Given the description of an element on the screen output the (x, y) to click on. 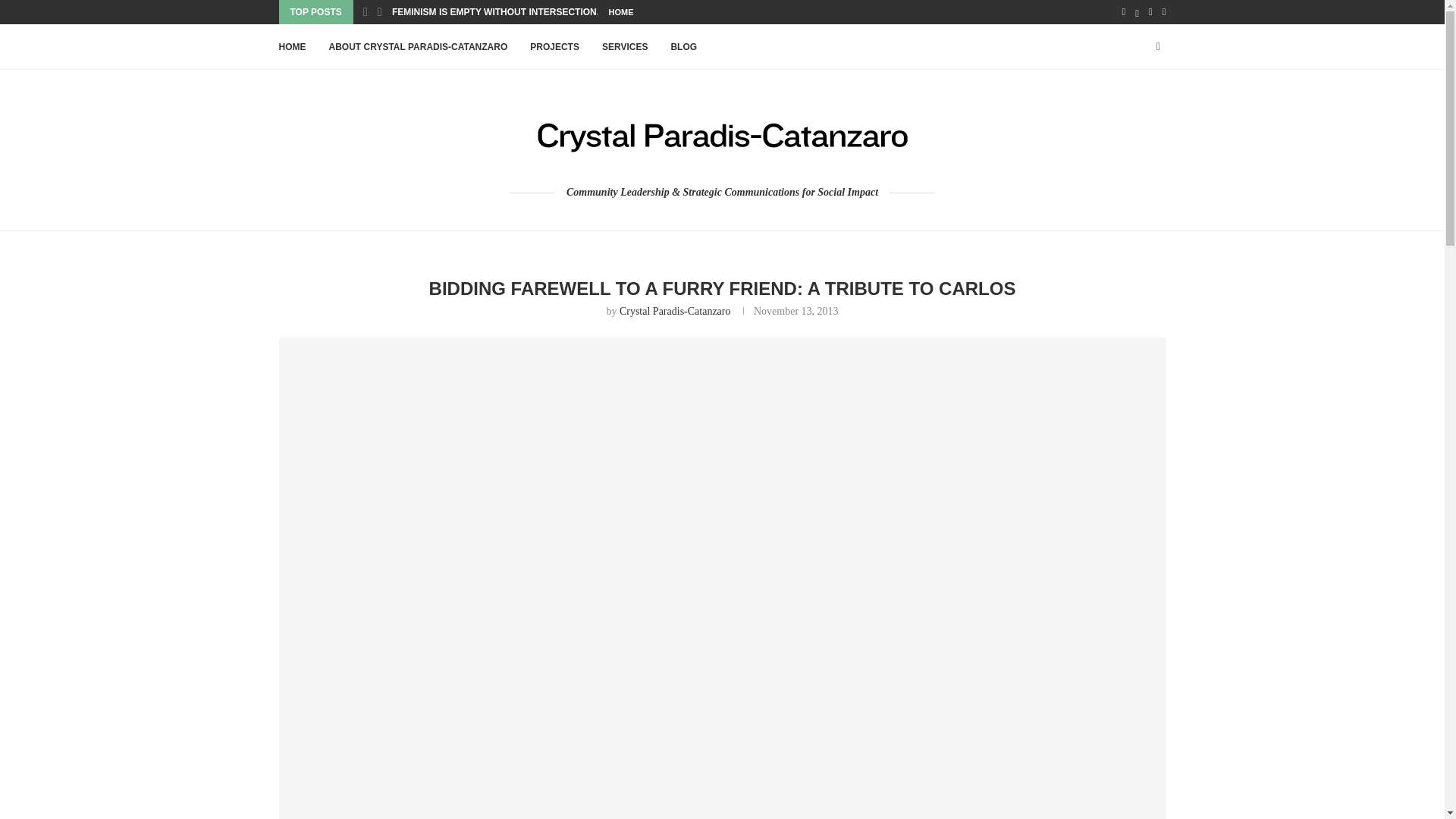
Crystal Paradis-Catanzaro (675, 310)
ABOUT CRYSTAL PARADIS-CATANZARO (418, 46)
PROJECTS (554, 46)
HOME (620, 12)
SERVICES (624, 46)
FEMINISM IS EMPTY WITHOUT INTERSECTIONALITY AND ACTION (536, 12)
